Given the description of an element on the screen output the (x, y) to click on. 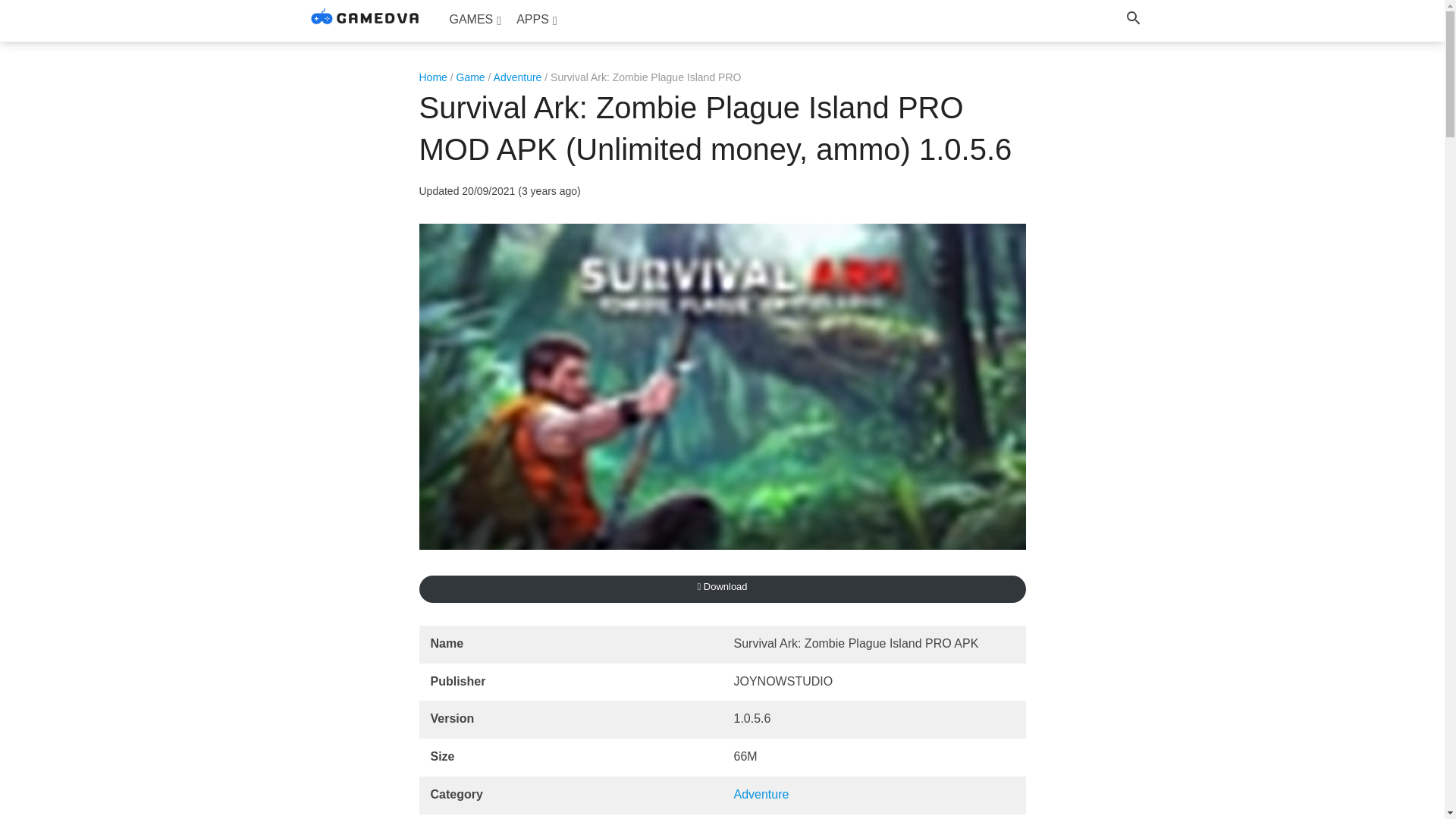
APPS (536, 20)
GAMES (474, 20)
